Given the description of an element on the screen output the (x, y) to click on. 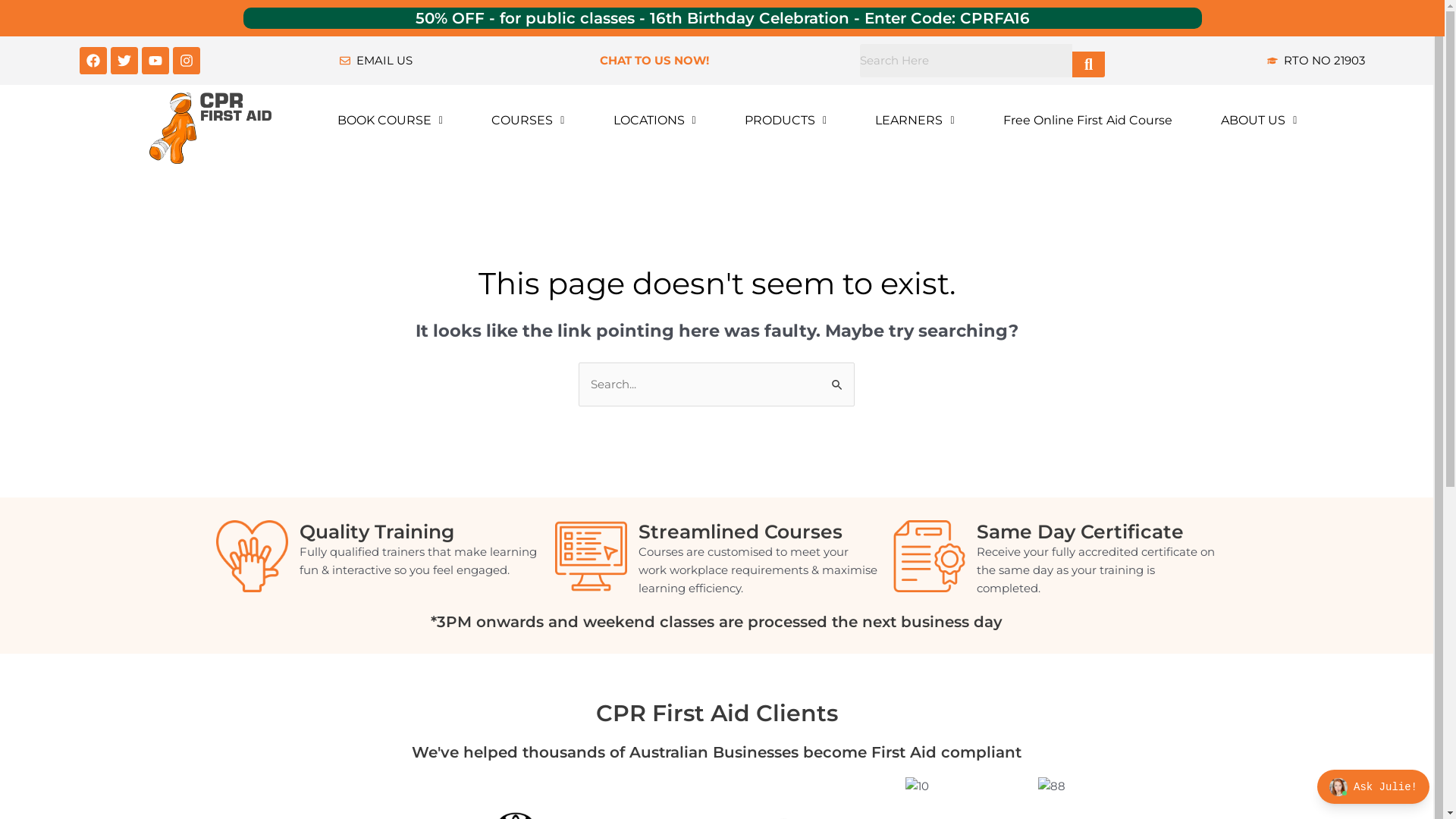
BOOK COURSE Element type: text (390, 120)
COURSES Element type: text (527, 120)
EMAIL US Element type: text (461, 60)
LOCATIONS Element type: text (653, 120)
RTO NO 21903 Element type: text (1242, 60)
Facebook Element type: text (92, 60)
ABOUT US Element type: text (1258, 120)
Free Online First Aid Course Element type: text (1087, 120)
Search Element type: hover (965, 60)
Youtube Element type: text (154, 60)
Instagram Element type: text (186, 60)
PRODUCTS Element type: text (785, 120)
CHAT TO US NOW! Element type: text (721, 60)
LEARNERS Element type: text (914, 120)
Twitter Element type: text (124, 60)
Search Element type: text (839, 377)
